Given the description of an element on the screen output the (x, y) to click on. 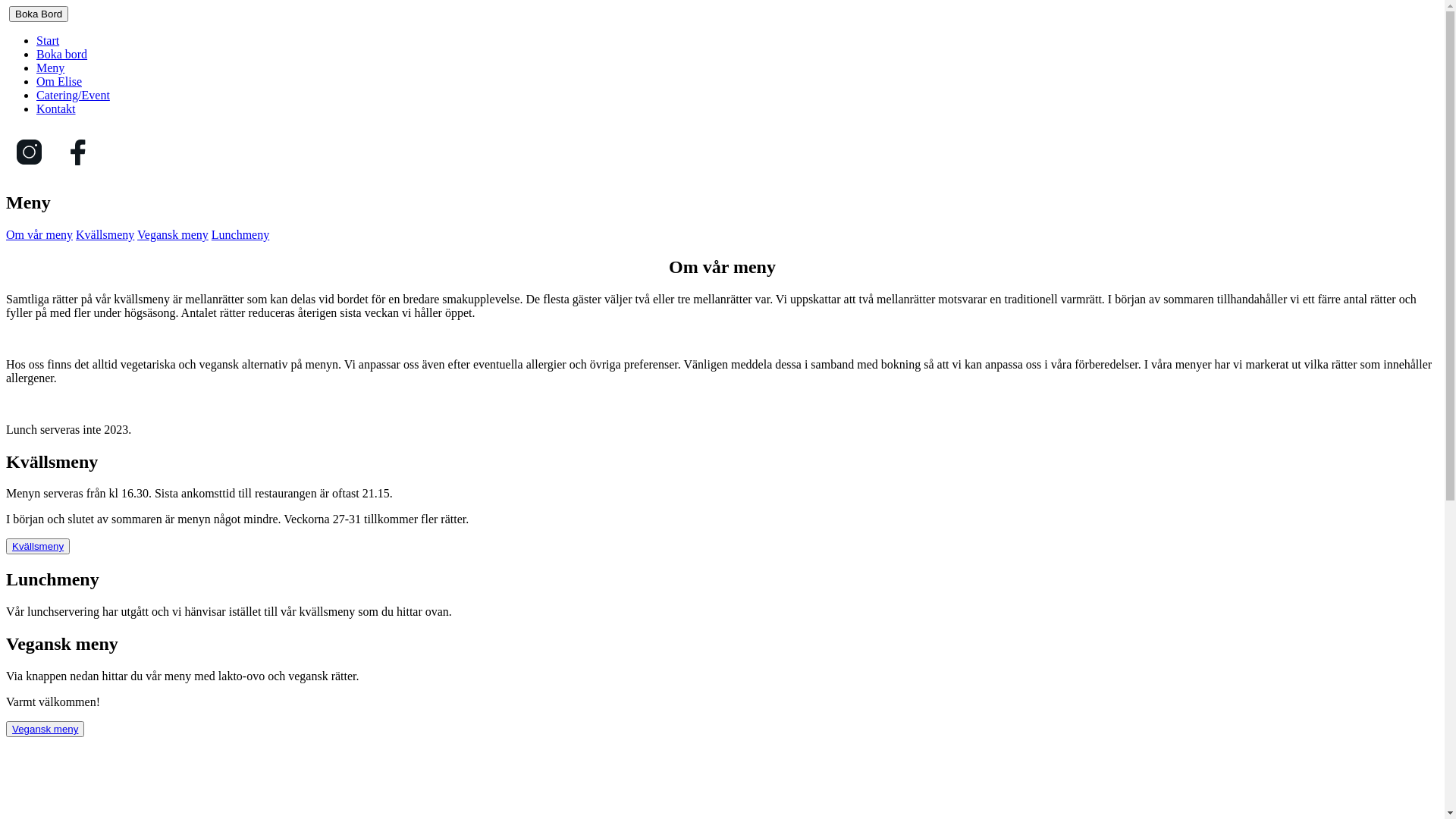
Start Element type: text (47, 40)
Vegansk meny Element type: text (172, 234)
Boka Bord Element type: text (38, 13)
Meny Element type: text (50, 67)
Catering/Event Element type: text (72, 94)
Vegansk meny Element type: text (45, 728)
Boka bord Element type: text (61, 53)
Om Elise Element type: text (58, 81)
Lunchmeny Element type: text (240, 234)
Kontakt Element type: text (55, 108)
Vegansk meny Element type: text (45, 729)
